Given the description of an element on the screen output the (x, y) to click on. 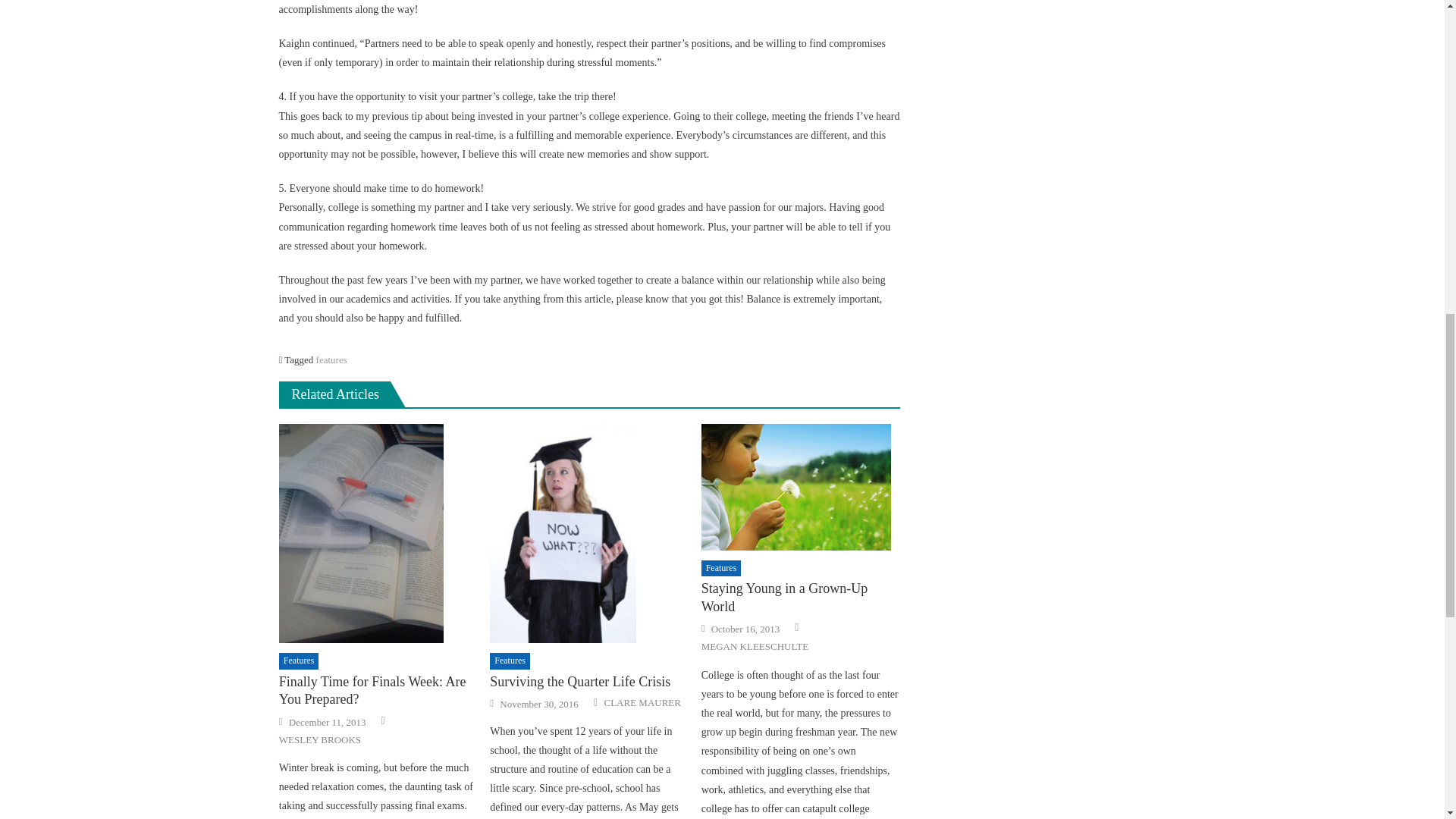
Features (298, 660)
Finally Time for Finals Week: Are You Prepared? (378, 533)
Posts by MEGAN KLEESCHULTE (754, 646)
CLARE MAURER (641, 703)
Features (721, 568)
features (331, 359)
WESLEY BROOKS (320, 739)
Staying Young in a Grown-Up World (800, 597)
Staying Young in a Grown-Up World (800, 487)
December 11, 2013 (327, 722)
Finally Time for Finals Week: Are You Prepared? (378, 691)
Surviving the Quarter Life Crisis (588, 533)
Posts by CLARE MAURER (641, 703)
Surviving the Quarter Life Crisis (588, 682)
Features (509, 660)
